Given the description of an element on the screen output the (x, y) to click on. 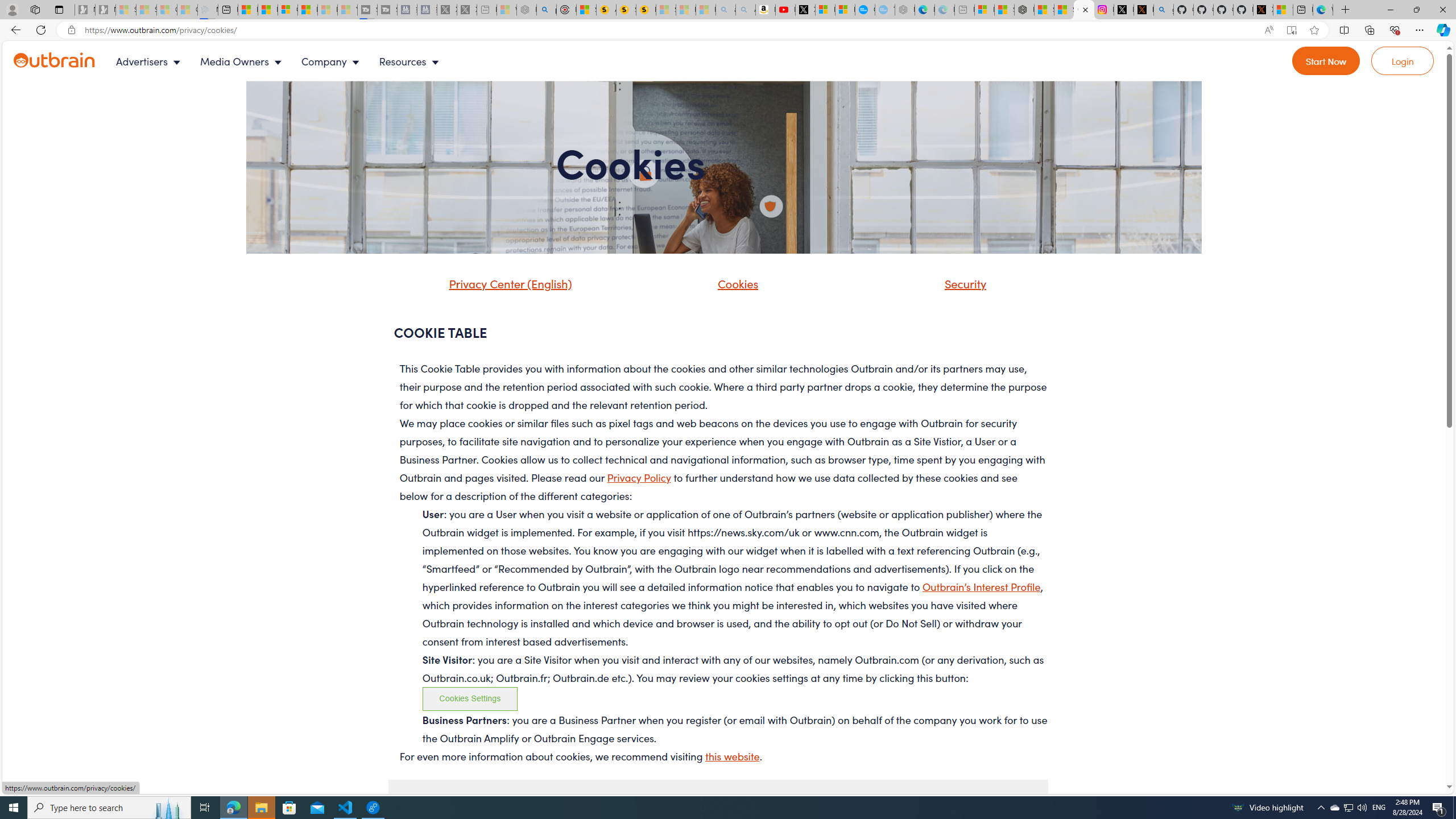
Privacy Center (English) (495, 287)
Michelle Starr, Senior Journalist at ScienceAlert (646, 9)
Company (333, 61)
this website (732, 756)
Overview (287, 9)
Amazon Echo Dot PNG - Search Images - Sleeping (745, 9)
